Given the description of an element on the screen output the (x, y) to click on. 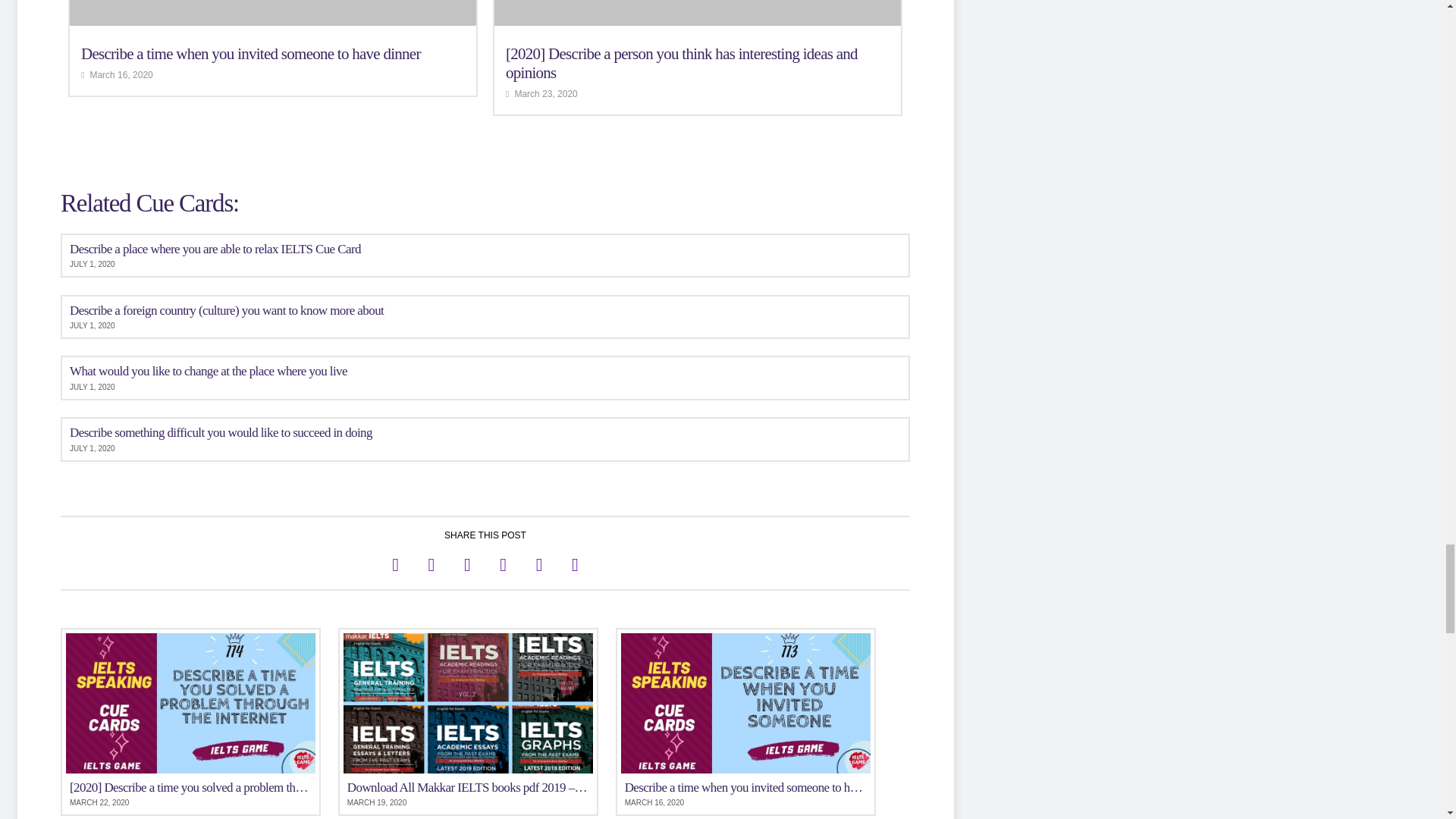
Describe a time when you invited someone to have dinner (250, 54)
